Given the description of an element on the screen output the (x, y) to click on. 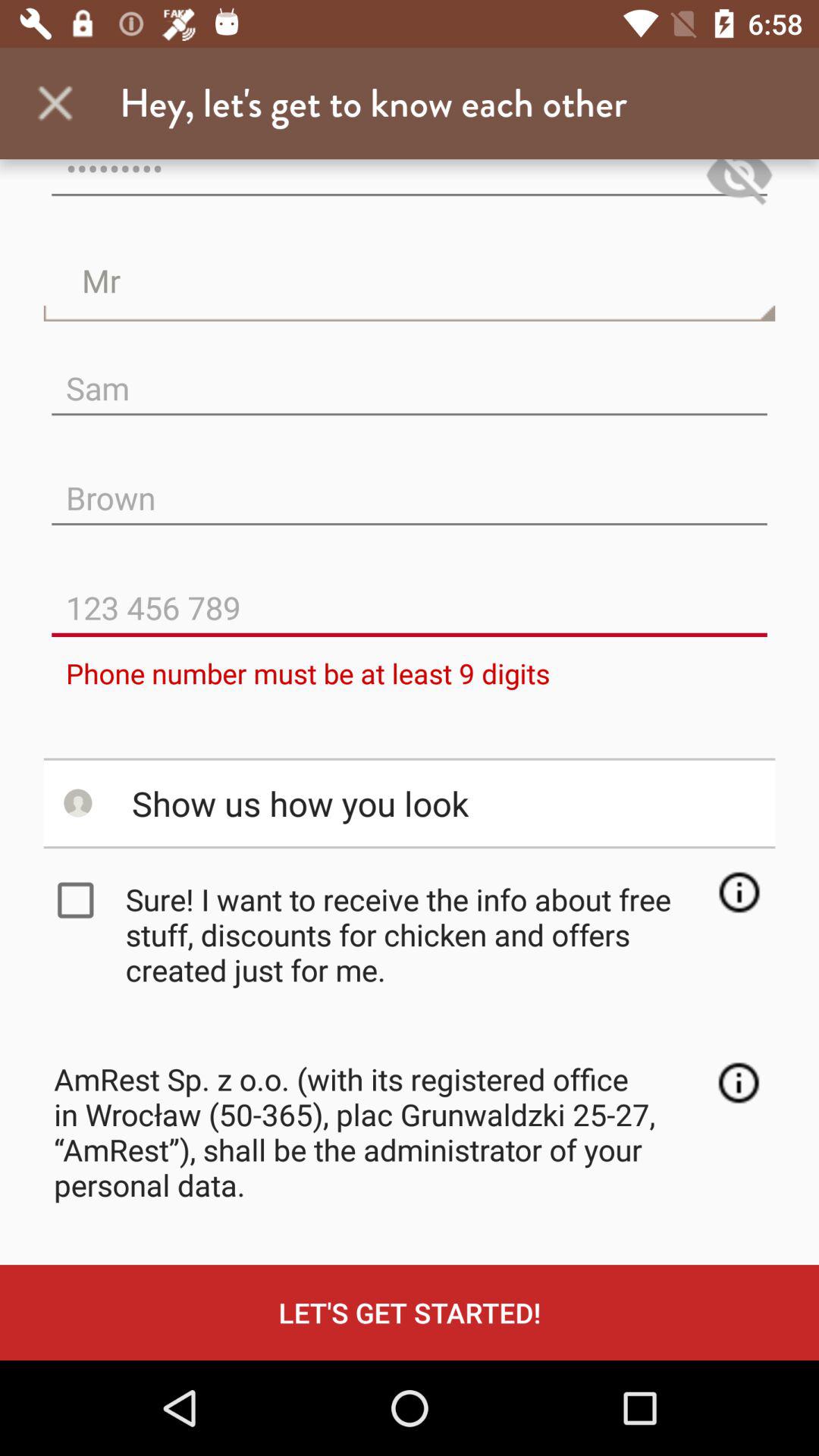
see more information (738, 892)
